Given the description of an element on the screen output the (x, y) to click on. 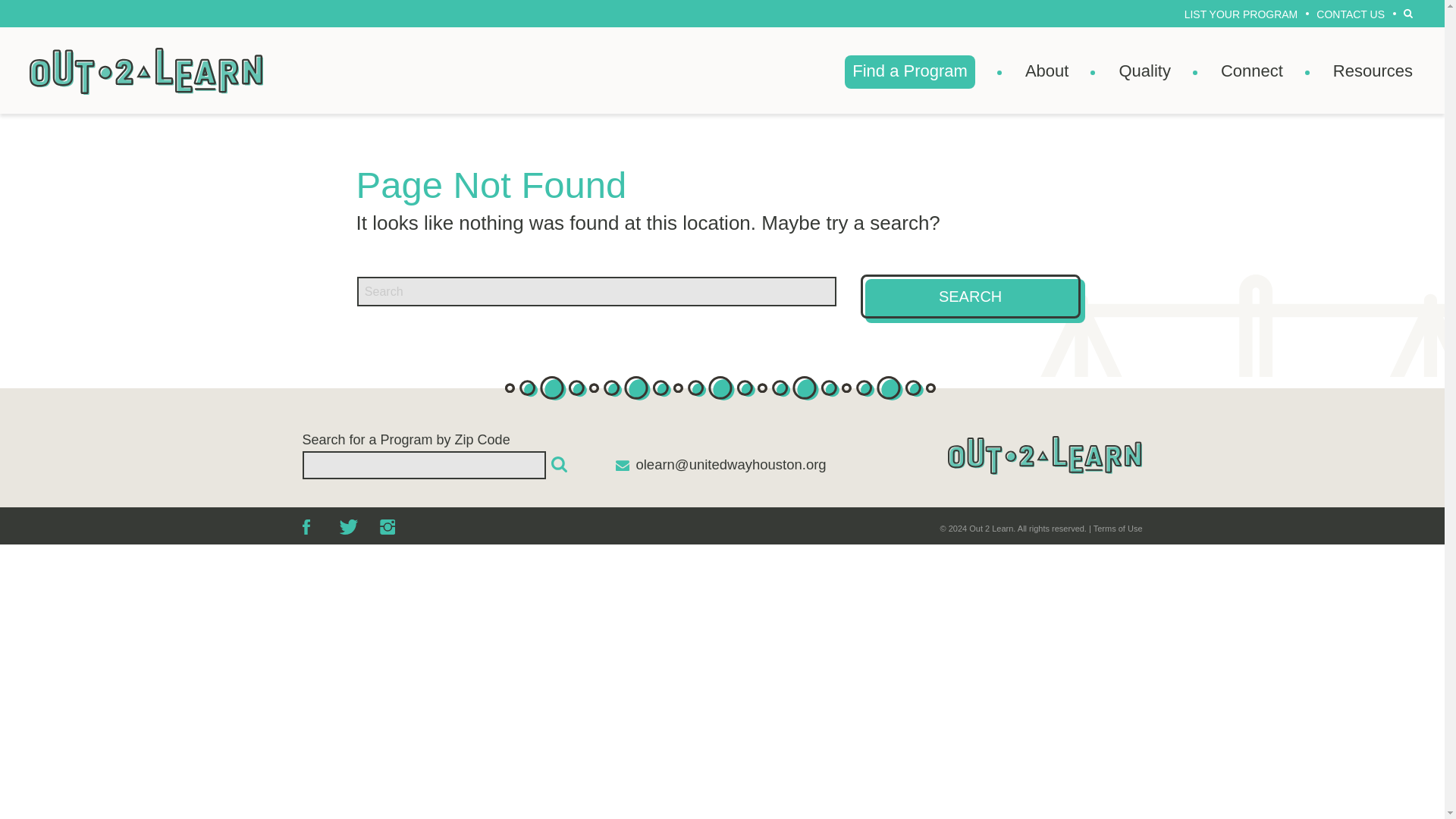
Out 2 Learn (146, 70)
Facebook (310, 526)
LIST YOUR PROGRAM (1241, 14)
About (1046, 71)
SEARCH (1407, 13)
SEARCH (970, 296)
Terms of Use (1117, 528)
Twitter (348, 526)
Resources (1372, 71)
Connect (1251, 71)
Quality (1144, 71)
Instagram (384, 526)
CONTACT US (1350, 14)
Find a Program (909, 71)
